Given the description of an element on the screen output the (x, y) to click on. 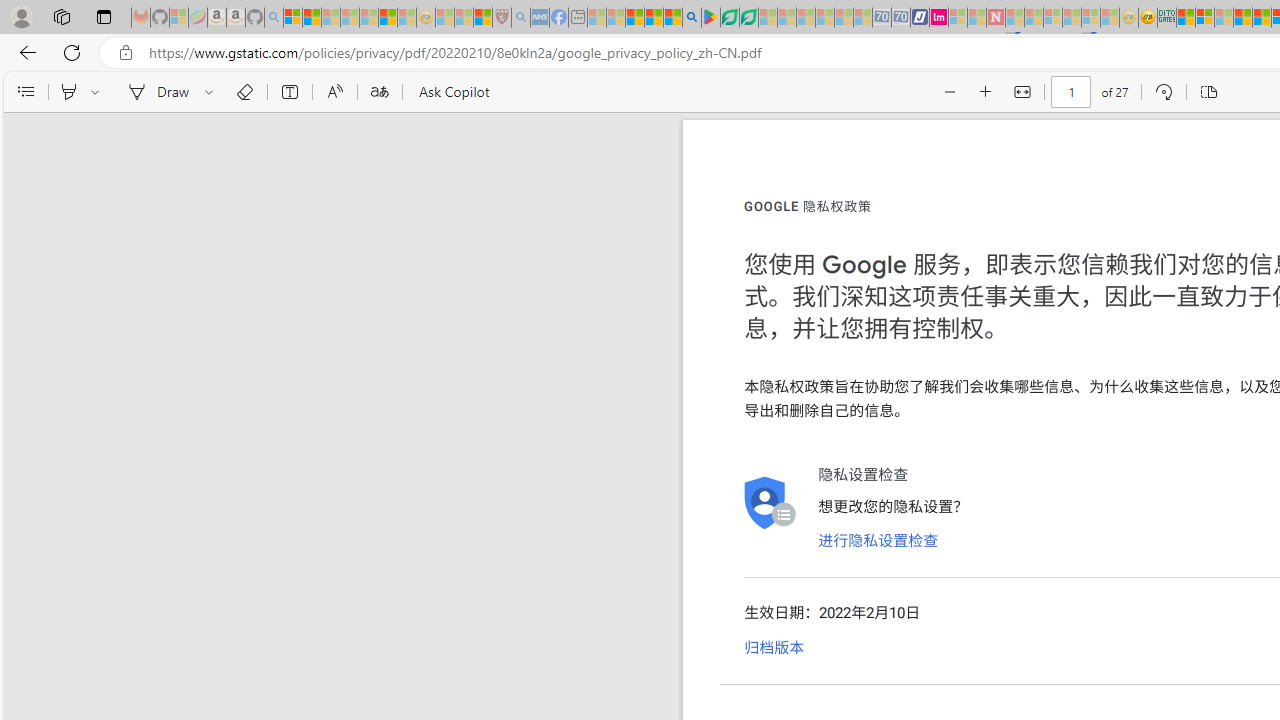
Jobs - lastminute.com Investor Portal (939, 17)
Select a highlight color (98, 92)
Local - MSN (482, 17)
